Given the description of an element on the screen output the (x, y) to click on. 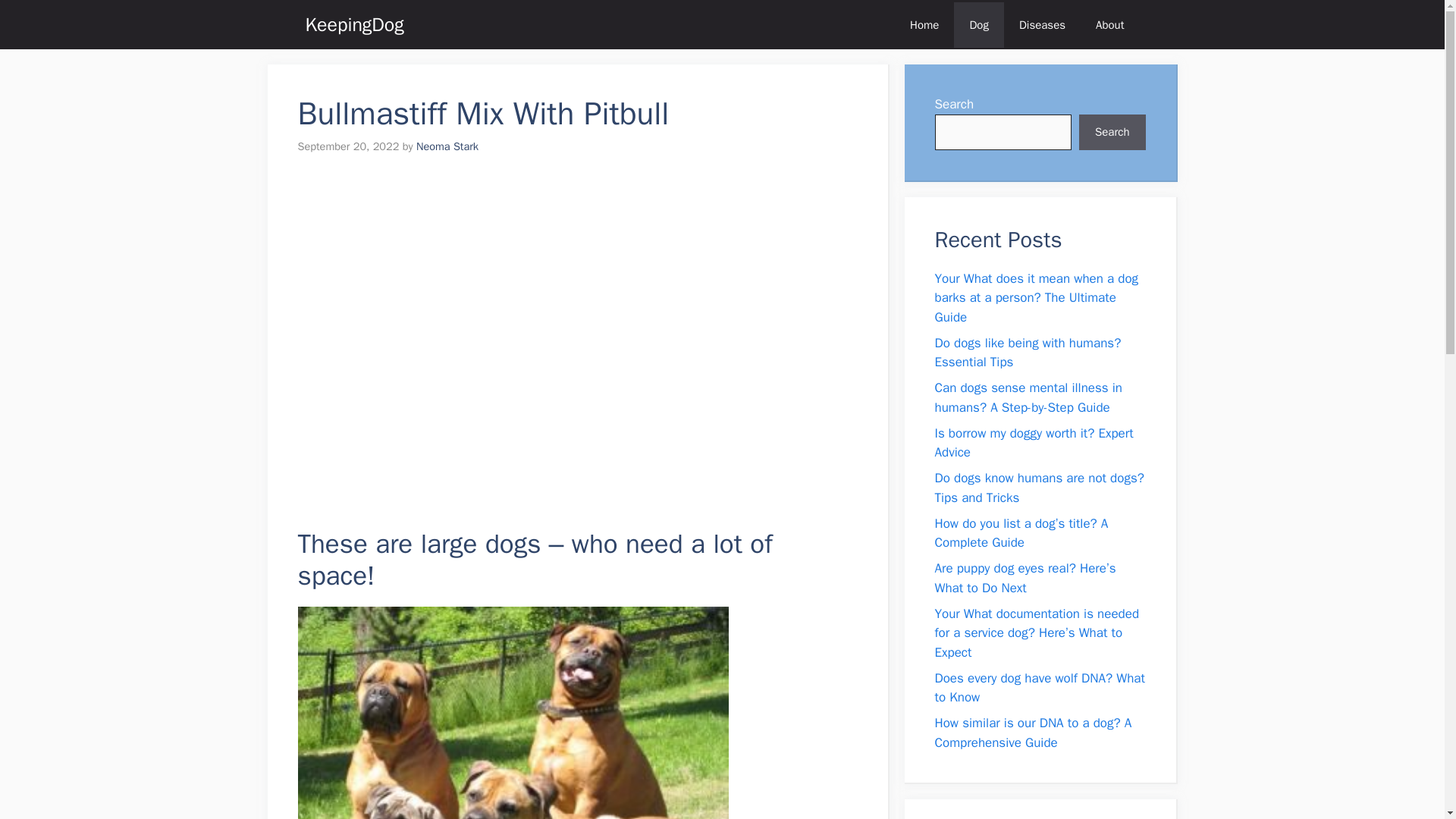
Dog (978, 23)
Search (1111, 131)
View all posts by Neoma Stark (447, 146)
Diseases (1042, 23)
Home (924, 23)
Do dogs know humans are not dogs? Tips and Tricks (1038, 488)
KeepingDog (353, 24)
Does every dog have wolf DNA? What to Know (1039, 687)
Do dogs like being with humans? Essential Tips (1027, 352)
Is borrow my doggy worth it? Expert Advice (1033, 443)
Neoma Stark (447, 146)
How similar is our DNA to a dog? A Comprehensive Guide (1032, 732)
About (1109, 23)
